Given the description of an element on the screen output the (x, y) to click on. 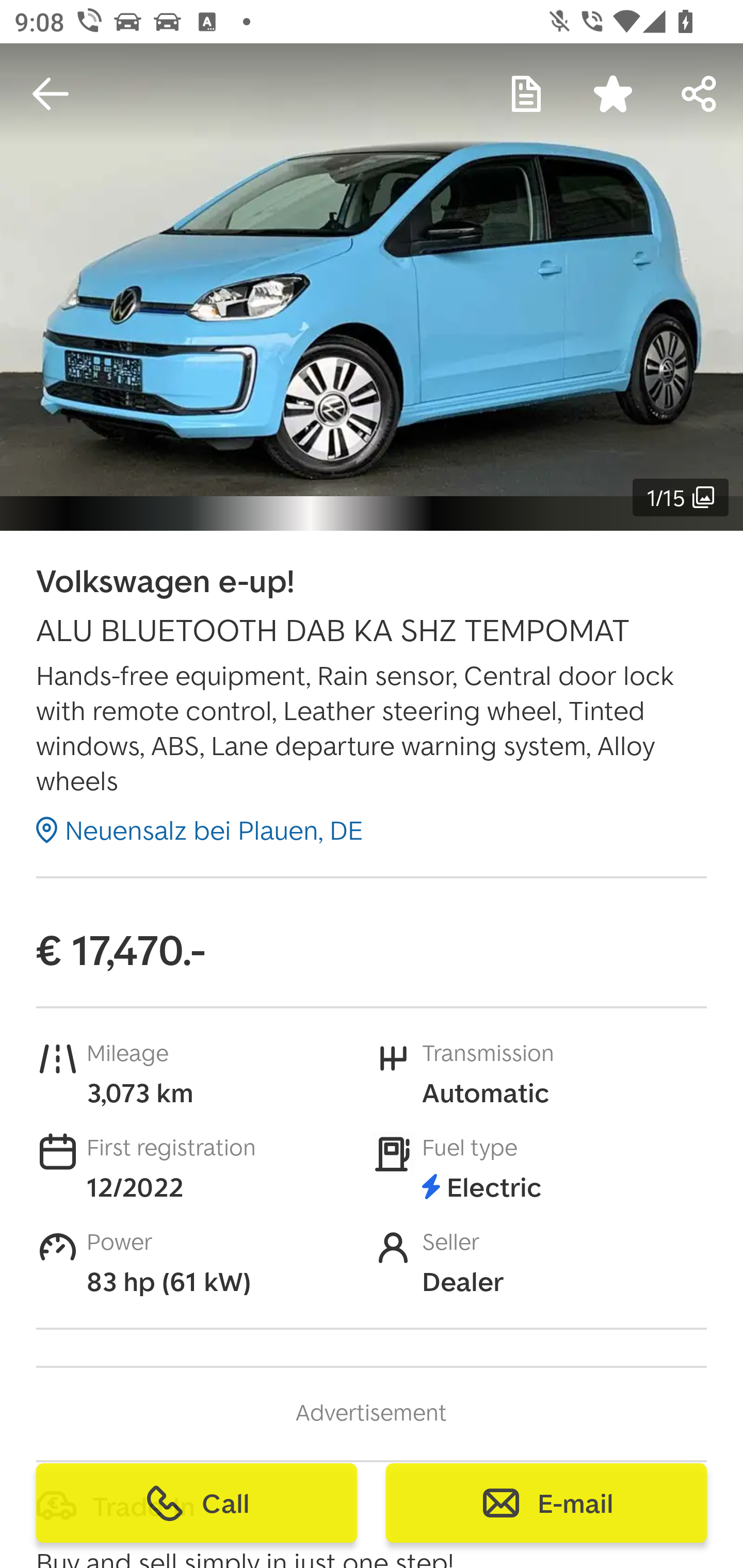
Navigate up (50, 93)
My Notes (525, 93)
Saved (612, 93)
Forward (699, 93)
Neuensalz bei Plauen, DE (199, 829)
Call (196, 1502)
E-mail (545, 1502)
